Given the description of an element on the screen output the (x, y) to click on. 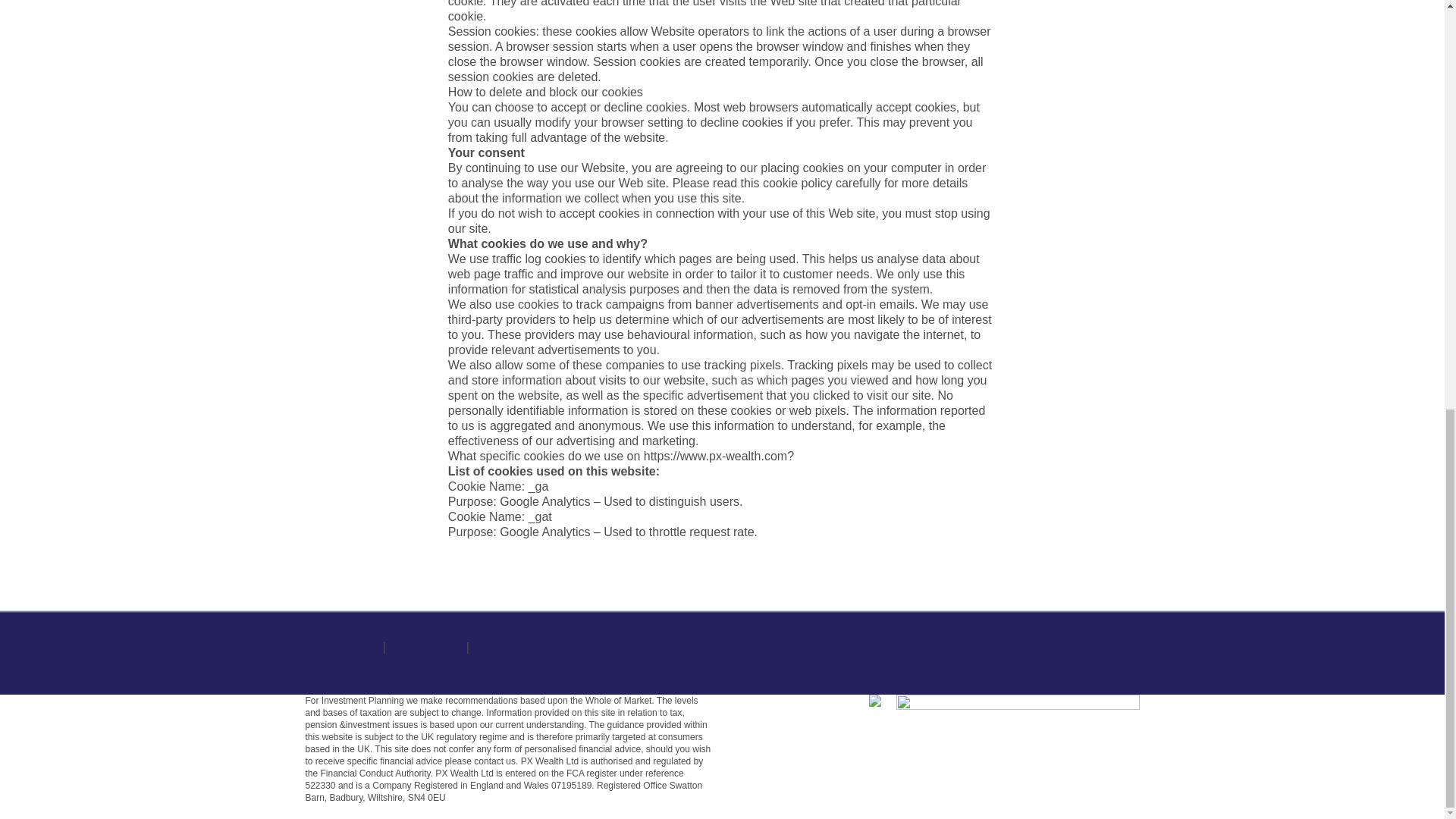
Cookie Policy (425, 646)
Financial Ombudsman Service (554, 646)
Privacy policy (341, 646)
